Given the description of an element on the screen output the (x, y) to click on. 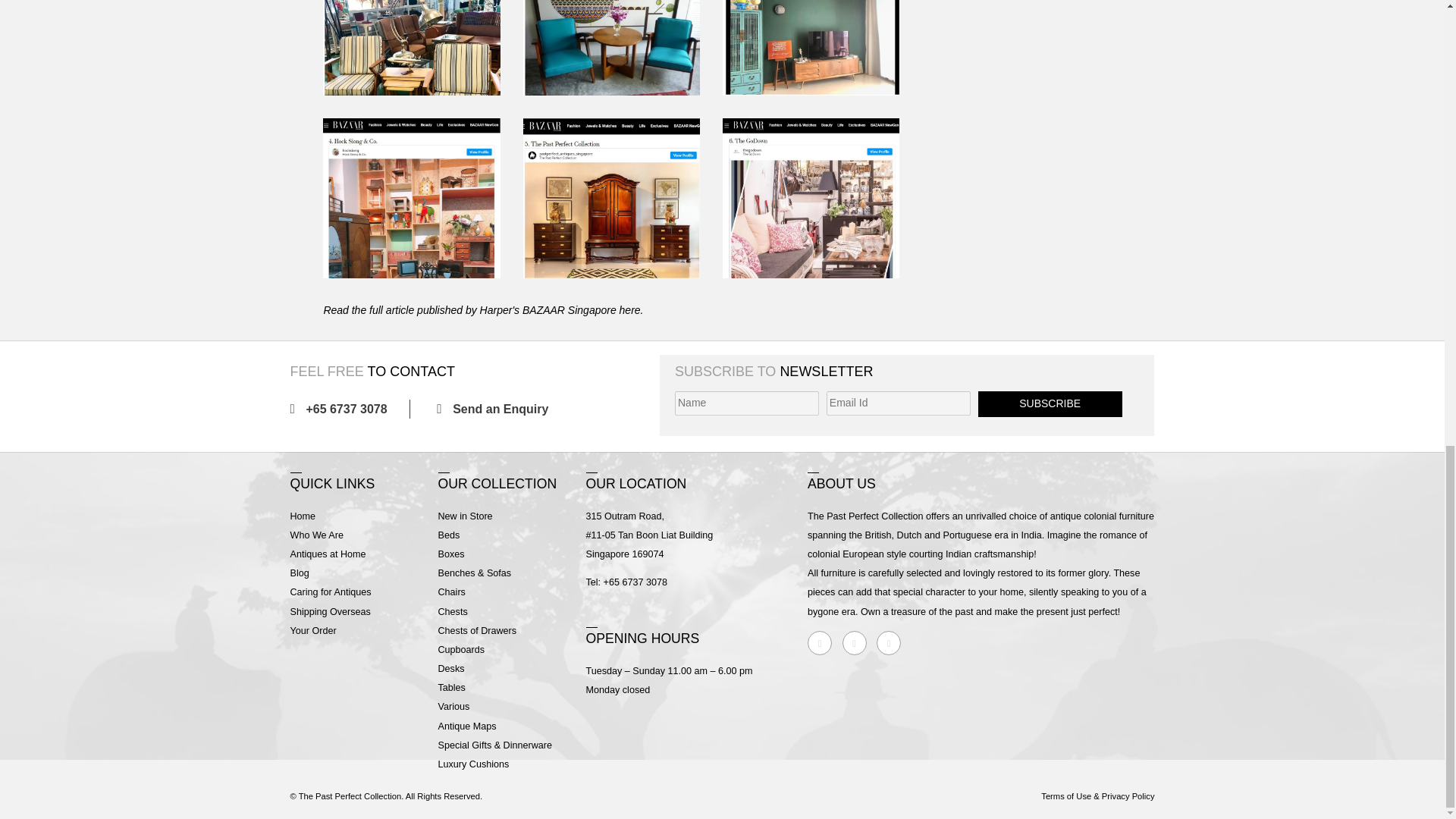
SUBSCRIBE (1050, 403)
